Given the description of an element on the screen output the (x, y) to click on. 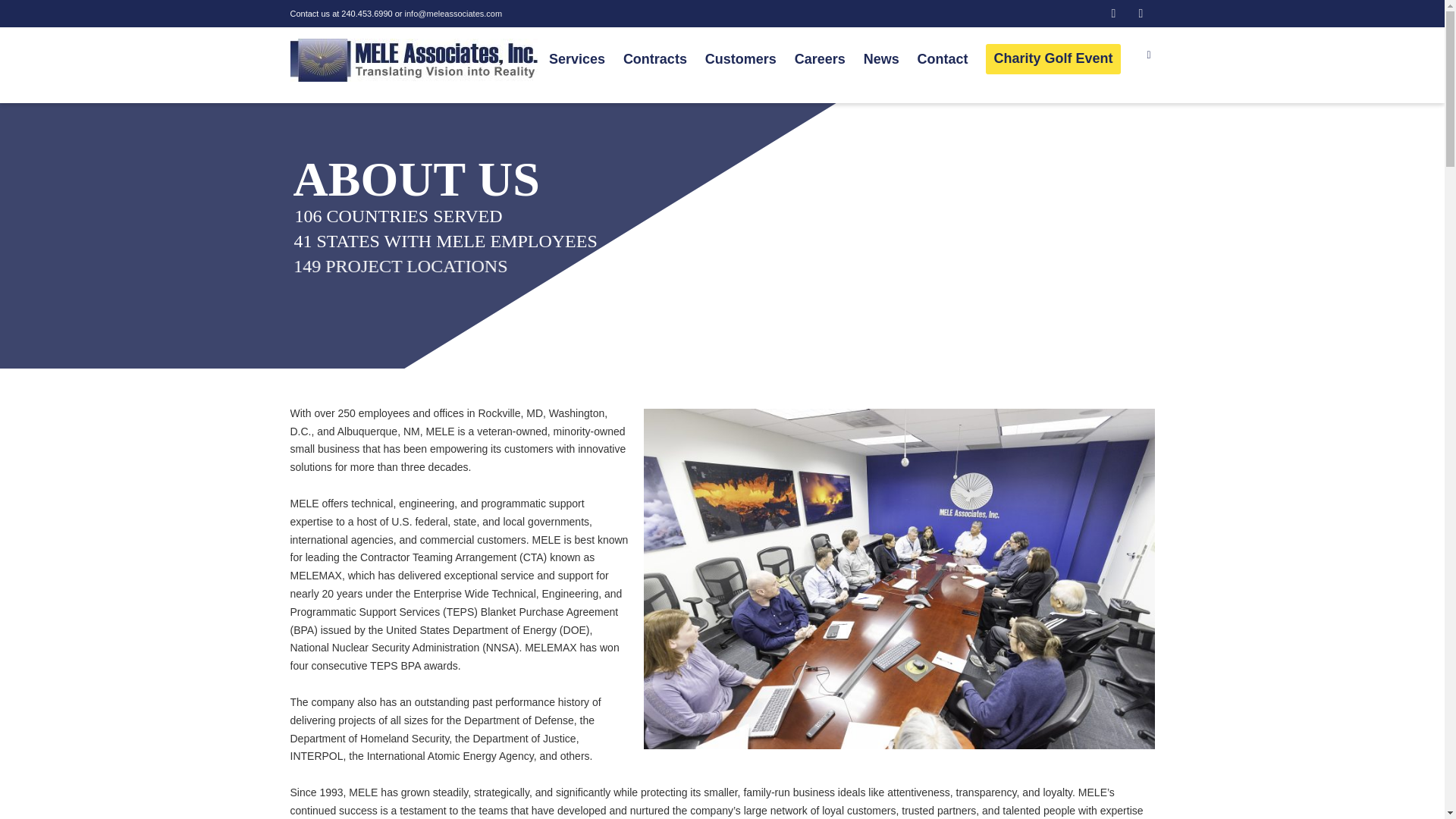
Contracts (655, 60)
Contact (942, 60)
News (881, 60)
Customers (740, 60)
Careers (819, 60)
Services (576, 60)
About (511, 60)
Charity Golf Event (1052, 59)
